Given the description of an element on the screen output the (x, y) to click on. 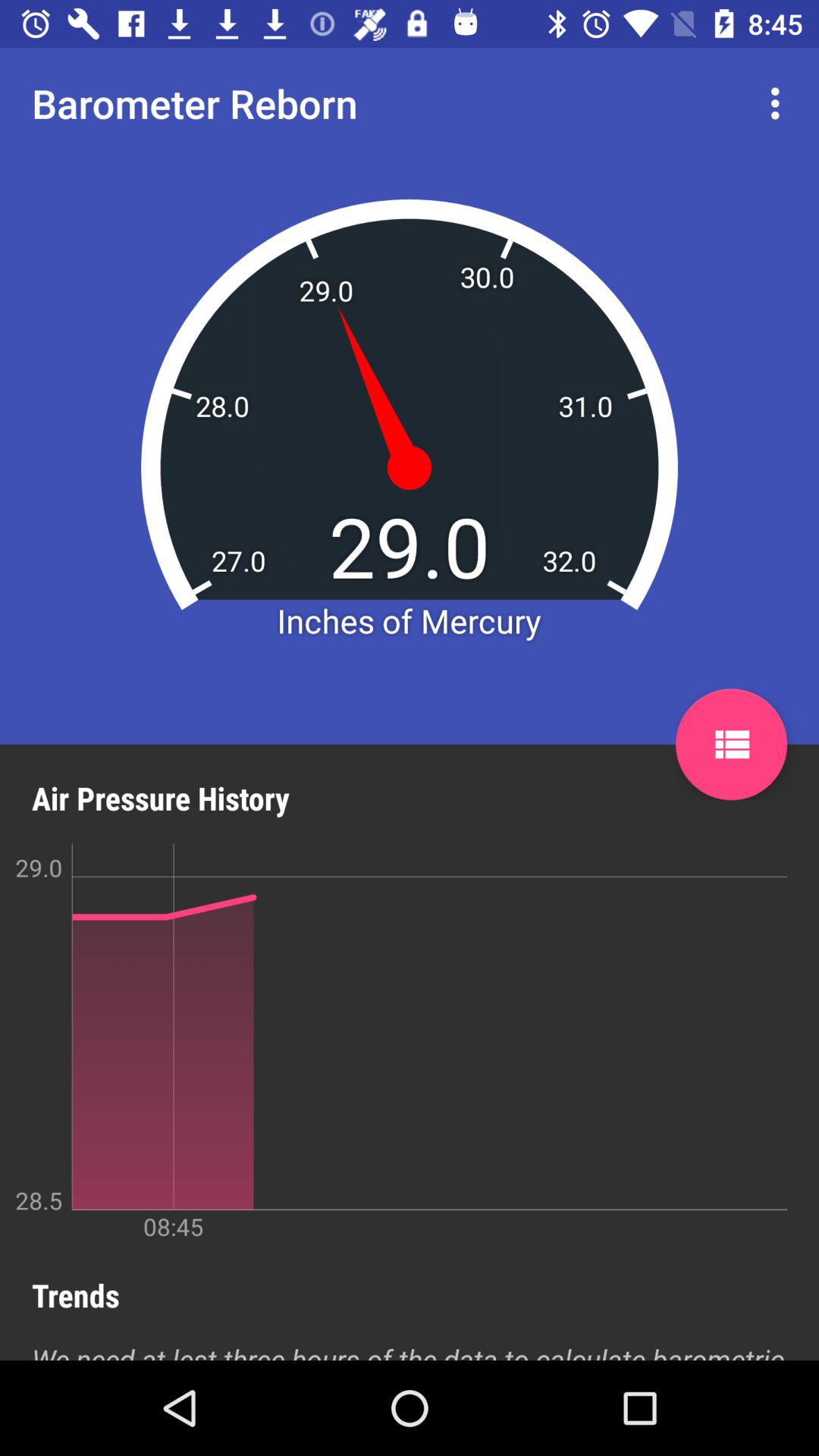
turn off the item next to the barometer reborn (779, 103)
